Given the description of an element on the screen output the (x, y) to click on. 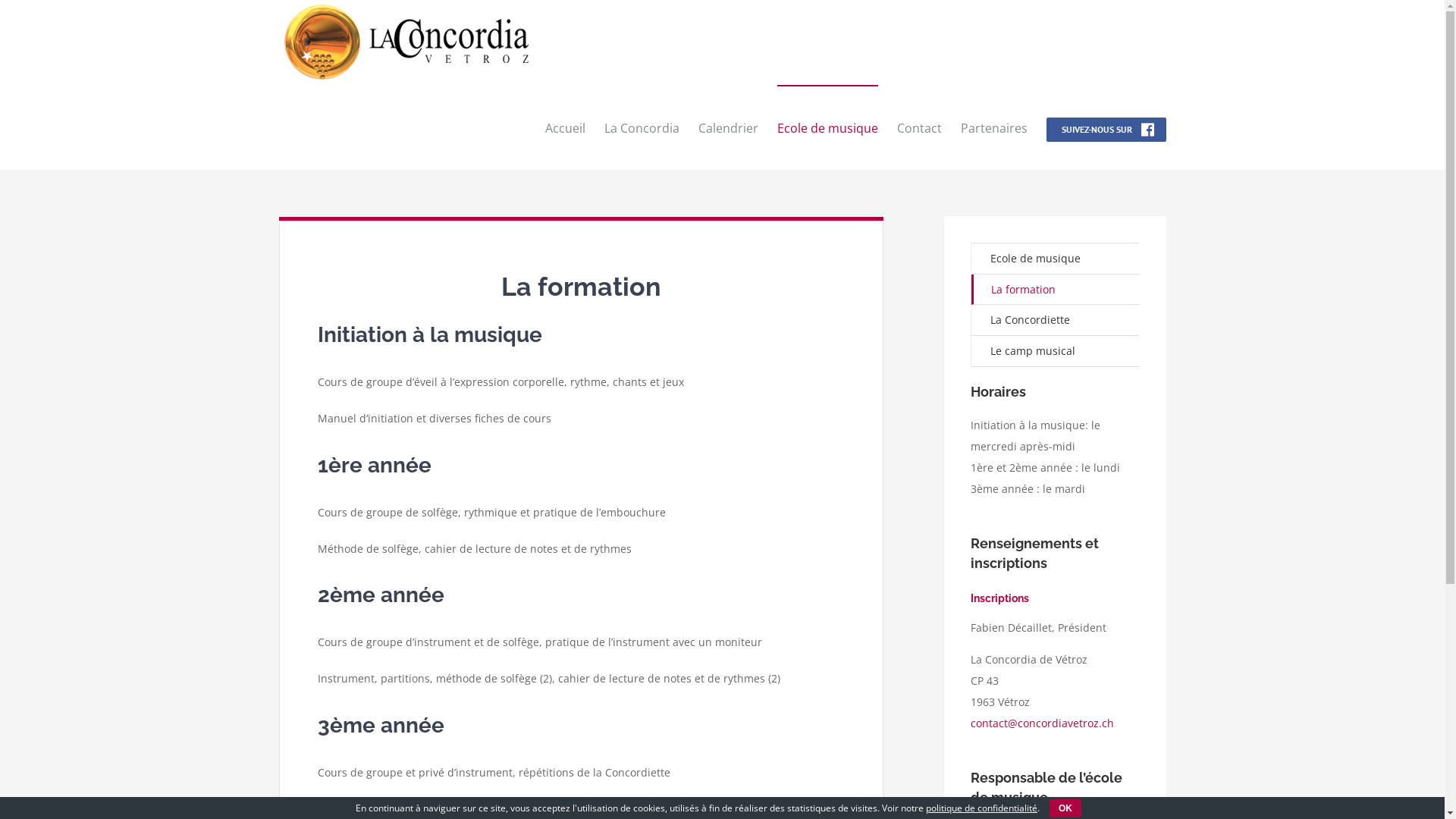
hc.zortevaidrocnoc@tcatnoc Element type: text (1041, 722)
La Concordia Element type: text (640, 126)
La Concordiette Element type: text (1055, 319)
Ecole de musique Element type: text (826, 126)
OK Element type: text (1065, 808)
Partenaires Element type: text (993, 126)
La formation Element type: text (1055, 289)
Calendrier Element type: text (727, 126)
SUIVEZ-NOUS SUR Element type: text (1106, 126)
Le camp musical Element type: text (1055, 351)
Contact Element type: text (918, 126)
Accueil Element type: text (564, 126)
Ecole de musique Element type: text (1055, 258)
